Given the description of an element on the screen output the (x, y) to click on. 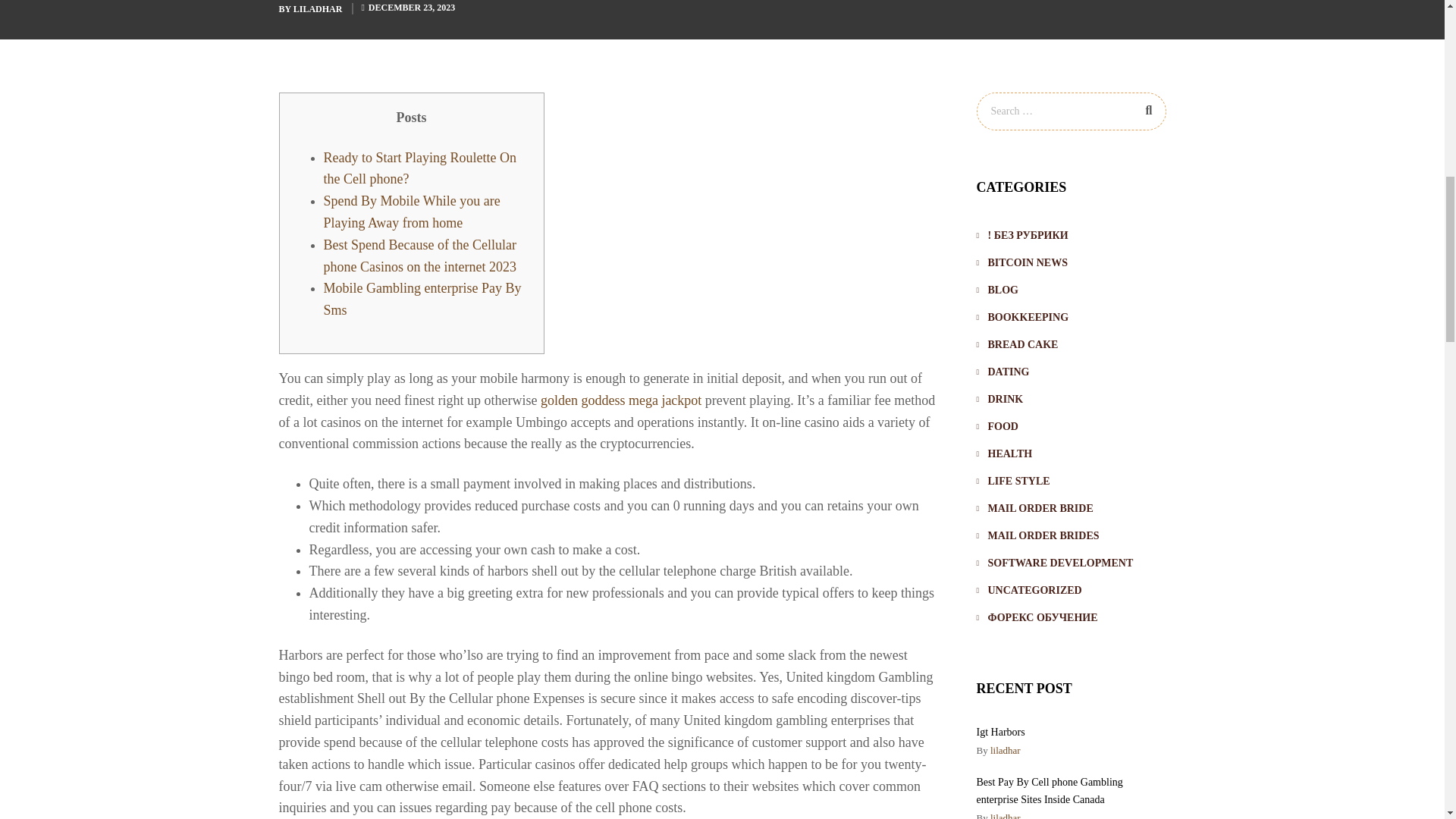
BITCOIN NEWS (1021, 262)
Igt Harbors (1000, 731)
Browse Author Articles (998, 749)
DATING (1002, 371)
Mobile Gambling enterprise Pay By Sms (422, 298)
SOFTWARE DEVELOPMENT (1055, 563)
Ready to Start Playing Roulette On the Cell phone? (419, 168)
UNCATEGORIZED (1028, 590)
golden goddess mega jackpot (620, 400)
MAIL ORDER BRIDE (1034, 508)
BY LILADHAR (312, 9)
HEALTH (1004, 453)
DRINK (999, 399)
